Given the description of an element on the screen output the (x, y) to click on. 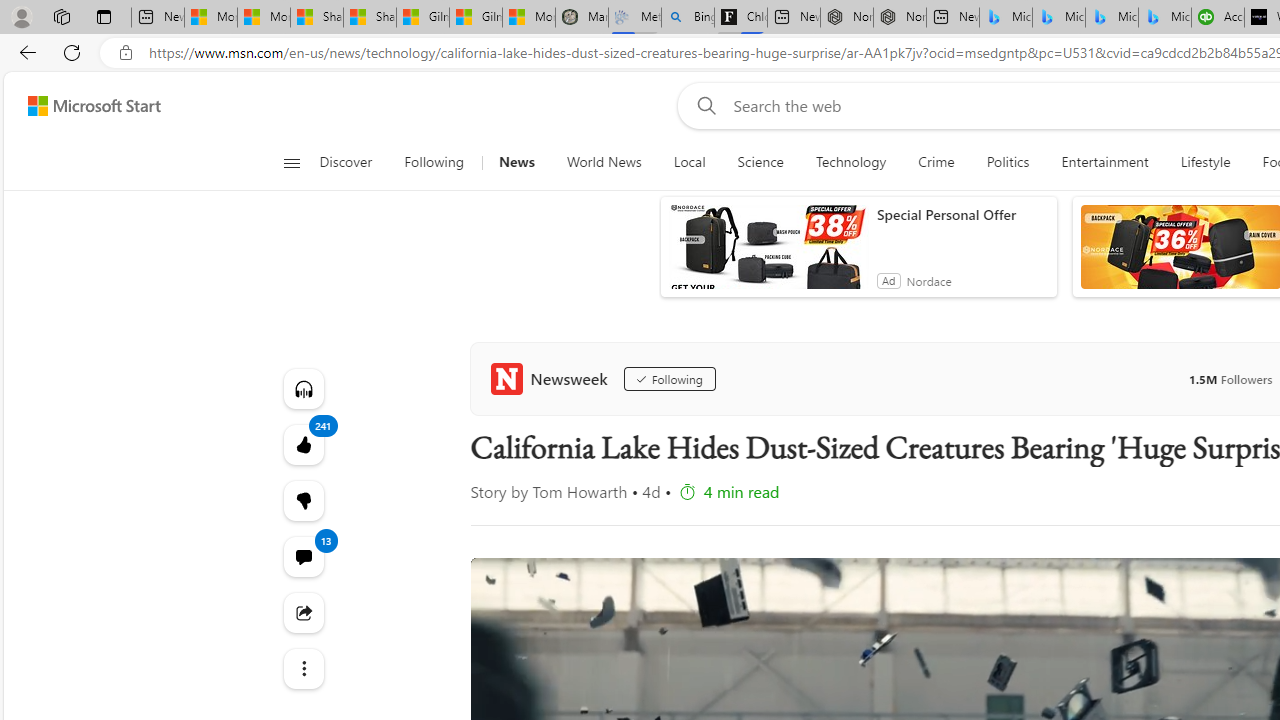
Listen to this article (302, 388)
News (516, 162)
Local (688, 162)
Politics (1007, 162)
